Given the description of an element on the screen output the (x, y) to click on. 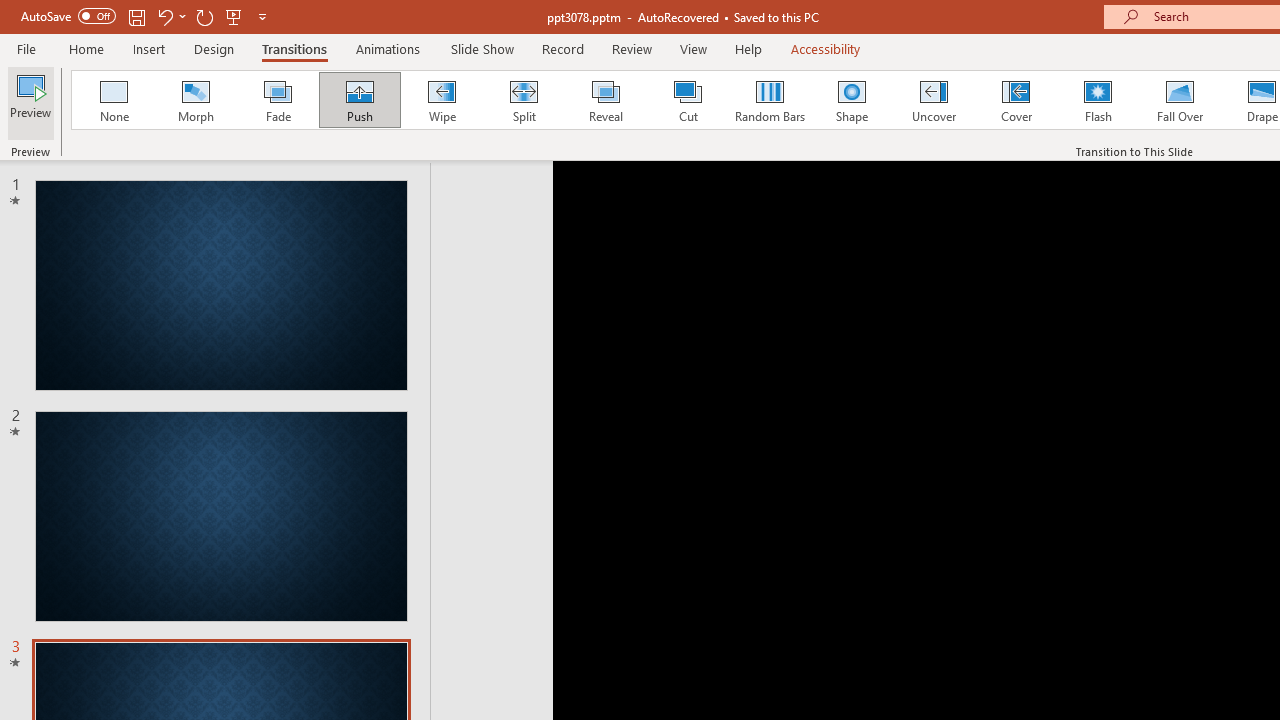
Fall Over (1180, 100)
Split (523, 100)
Morph (195, 100)
None (113, 100)
Reveal (605, 100)
Push (359, 100)
